Given the description of an element on the screen output the (x, y) to click on. 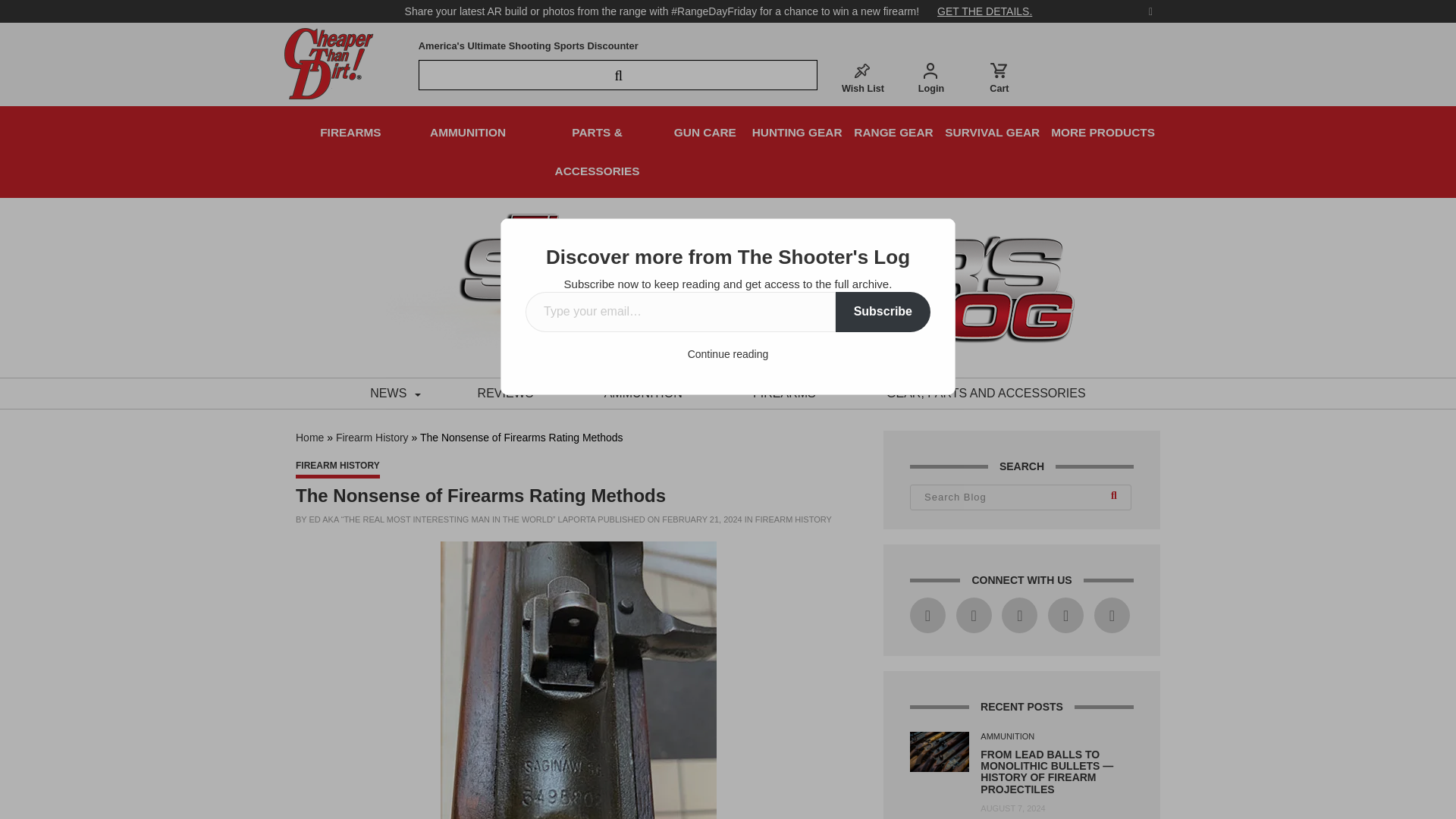
AMMUNITION (643, 393)
Wish List (862, 77)
RANGE GEAR (893, 132)
Search (1116, 497)
GEAR, PARTS AND ACCESSORIES (986, 393)
Search (1116, 497)
Firearms (783, 393)
Cart (999, 77)
Login (931, 77)
SURVIVAL GEAR (992, 132)
